Given the description of an element on the screen output the (x, y) to click on. 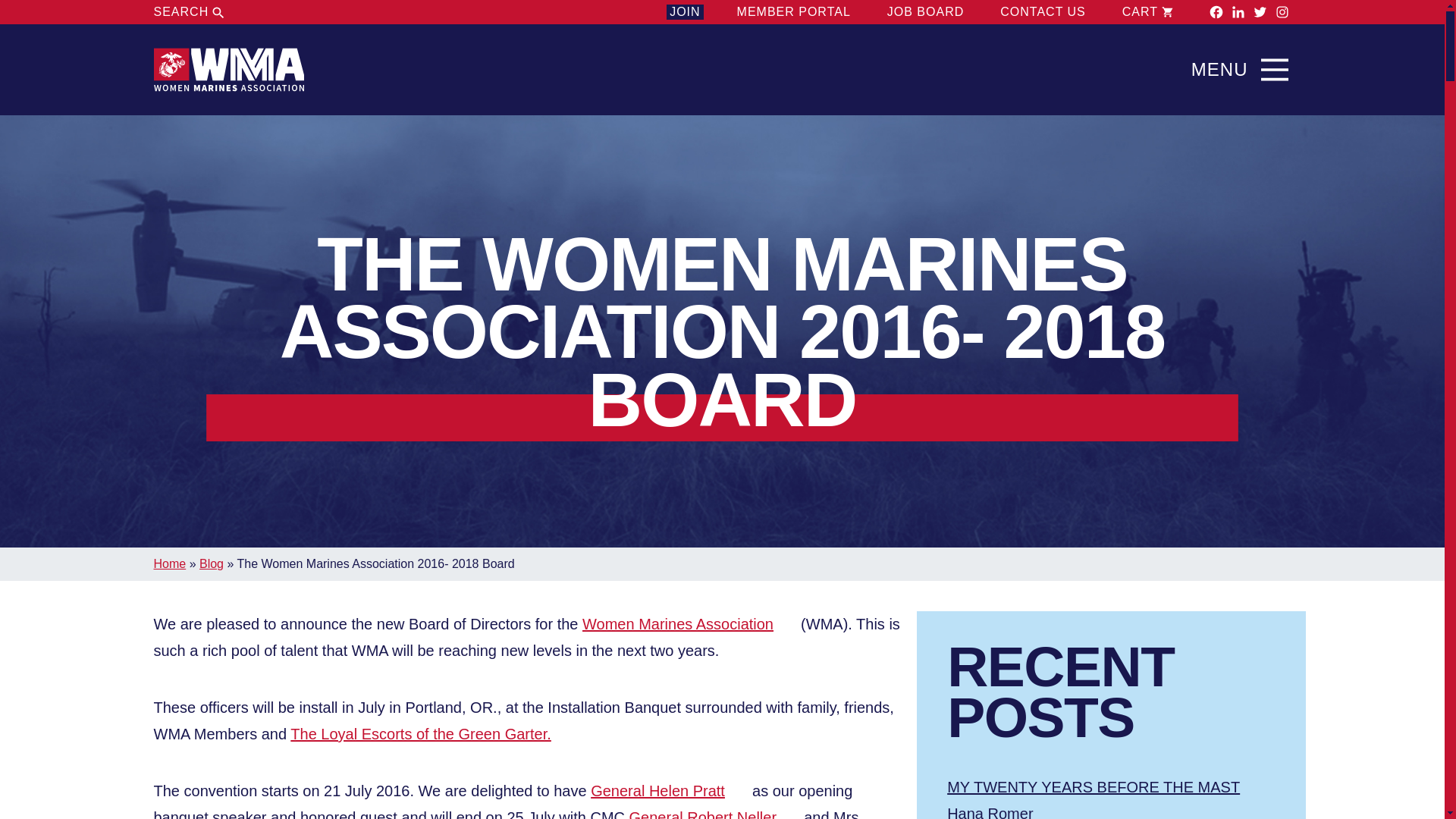
MEMBER PORTAL (793, 11)
Instagram (1281, 12)
Twitter (1259, 12)
SEARCH (189, 11)
CART (1147, 11)
SKIP TO MAIN CONTENT (721, 37)
Facebook (1216, 12)
Women Marines Association (227, 69)
MENU (1244, 69)
CONTACT US (1043, 11)
JOB BOARD (924, 11)
JOIN (684, 11)
Linkedin (1237, 12)
